Given the description of an element on the screen output the (x, y) to click on. 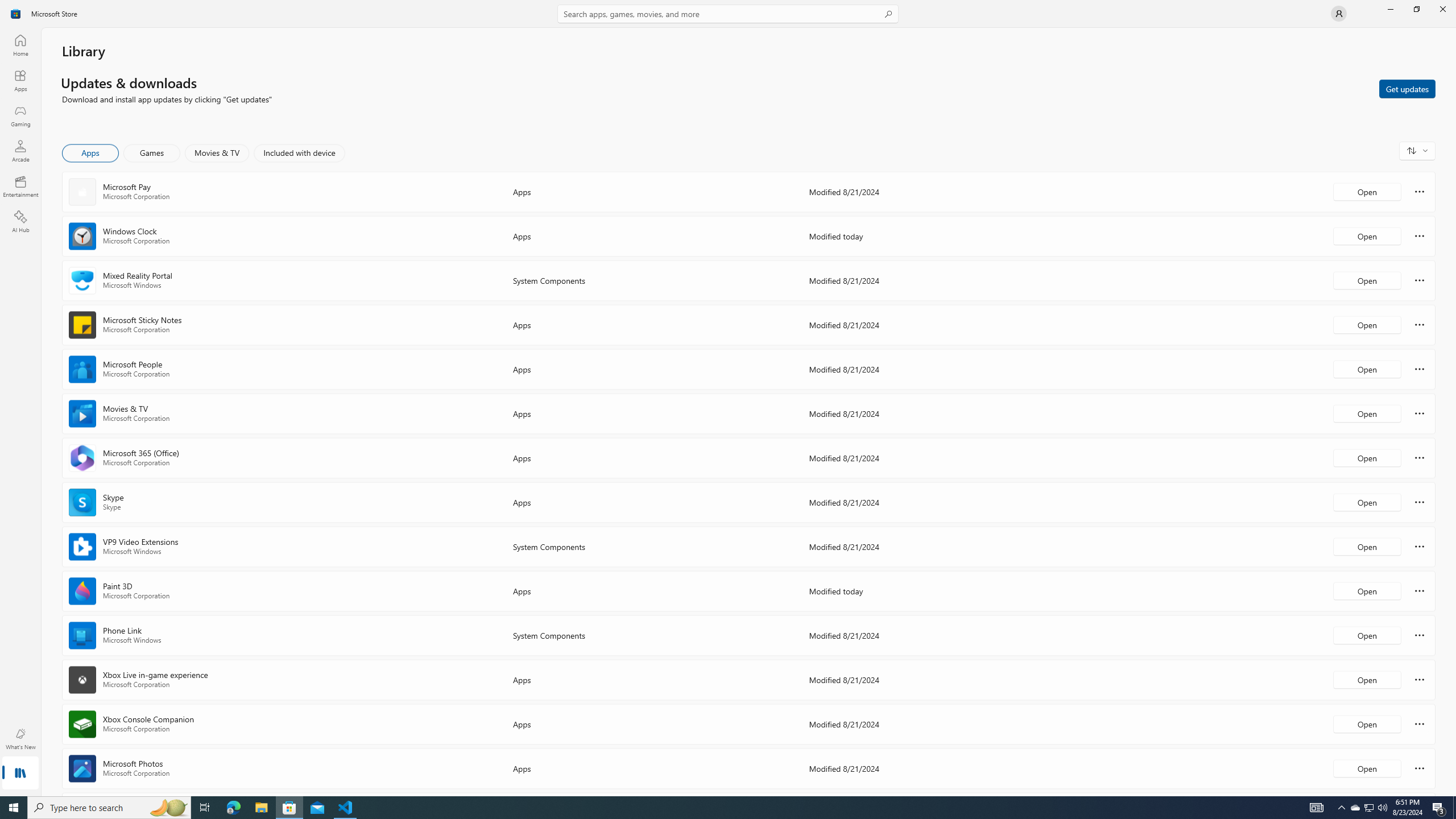
Games (151, 153)
Entertainment (20, 185)
What's New (20, 738)
More options (1419, 768)
Apps (90, 153)
Restore Microsoft Store (1416, 9)
Open (1366, 768)
Get updates (1406, 88)
AutomationID: NavigationControl (728, 398)
Minimize Microsoft Store (1390, 9)
Apps (20, 80)
AI Hub (20, 221)
Movies & TV (216, 153)
User profile (1338, 13)
Library (20, 773)
